Given the description of an element on the screen output the (x, y) to click on. 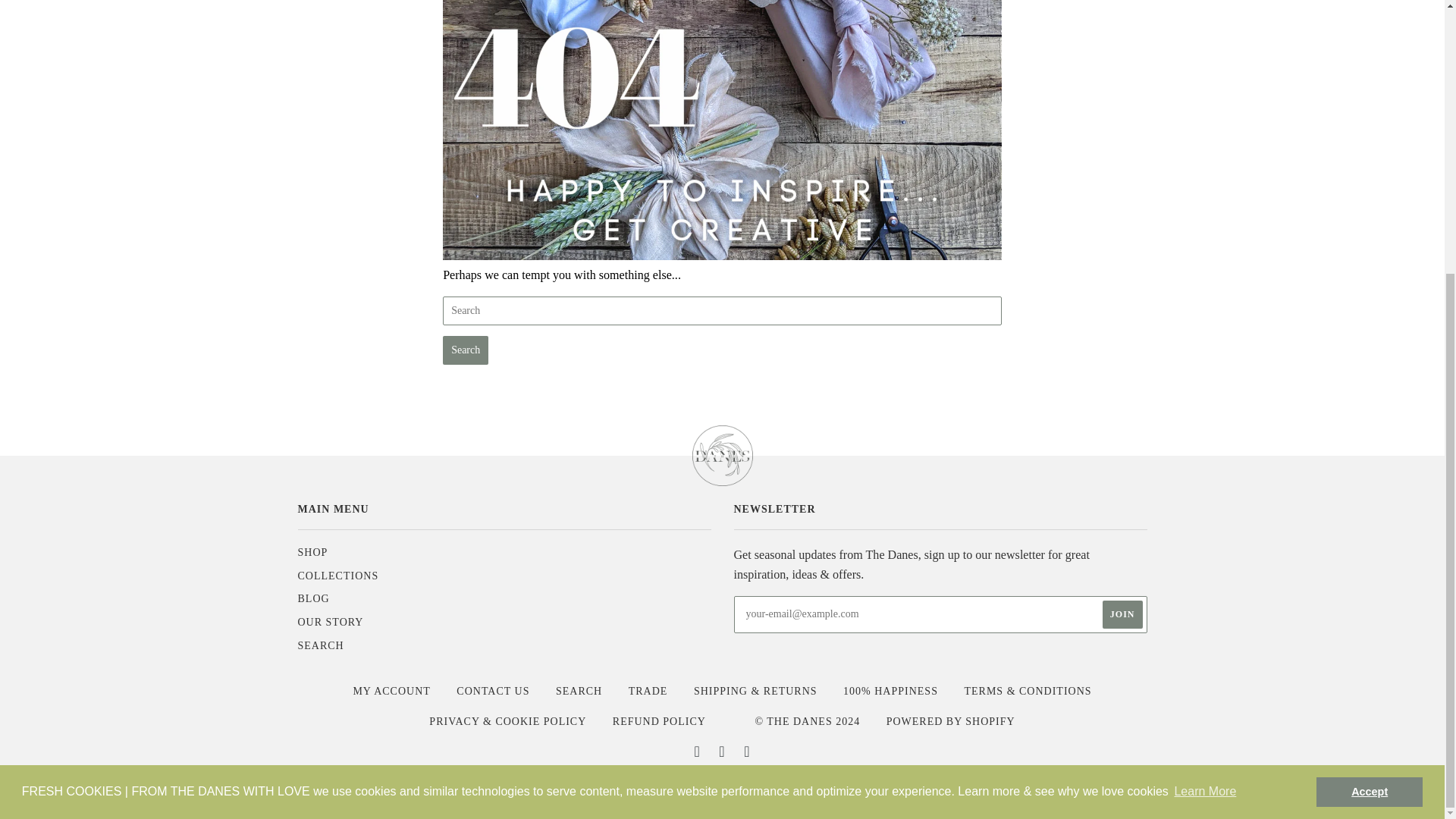
AMERICAN EXPRESS (497, 786)
MASTERCARD (767, 786)
Search (464, 349)
APPLE PAY (541, 786)
VISA (947, 786)
DINERS CLUB (586, 786)
Learn More (1205, 388)
Accept (1369, 388)
UNION PAY (902, 786)
Join (1122, 614)
